Given the description of an element on the screen output the (x, y) to click on. 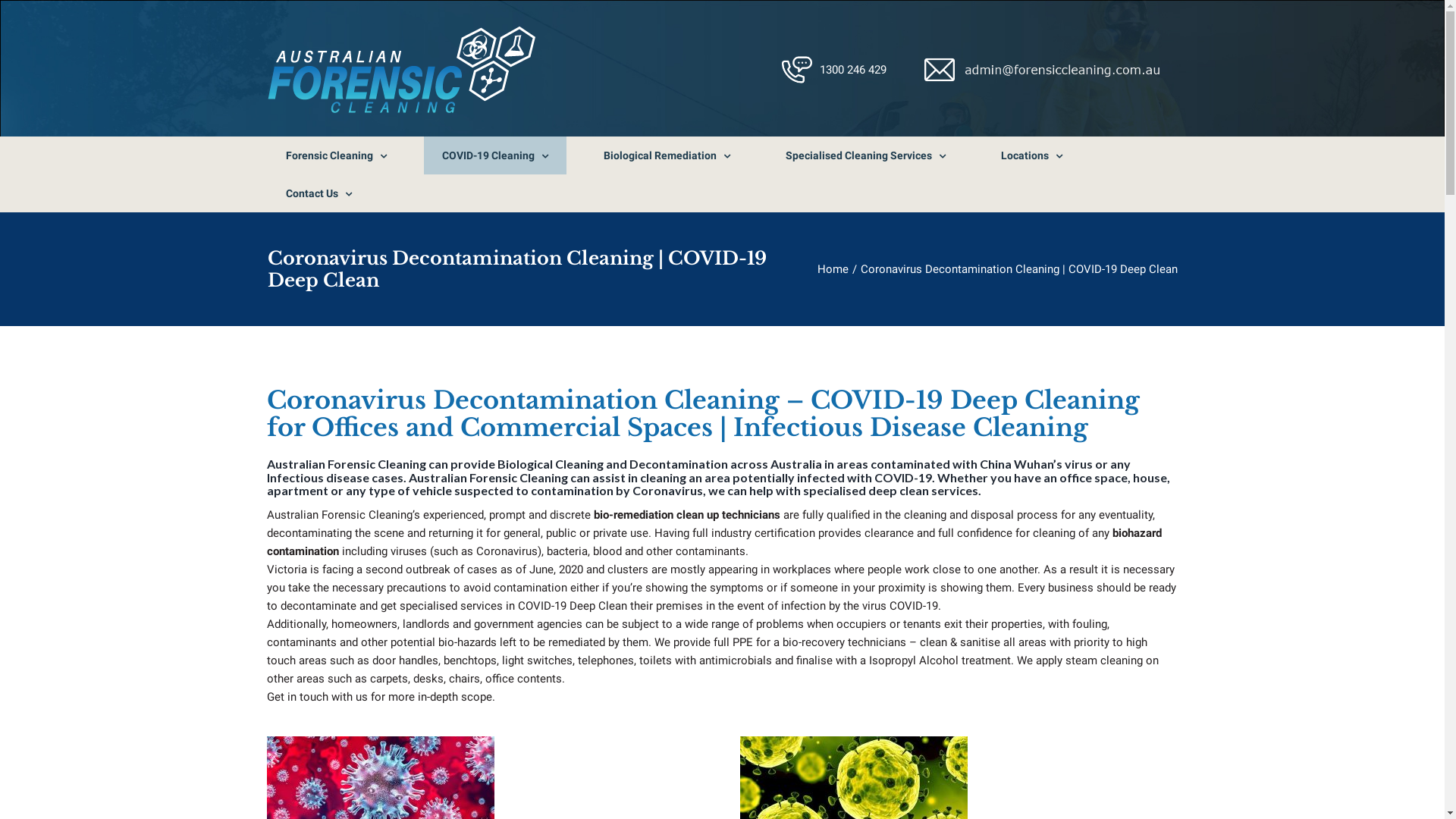
Forensic Cleaning Element type: text (335, 155)
Specialised Cleaning Services Element type: text (865, 155)
Biological Remediation Element type: text (666, 155)
Contact Us Element type: text (317, 193)
Home Element type: text (832, 269)
1300 246 429 Element type: text (852, 69)
Locations Element type: text (1031, 155)
COVID-19 Cleaning Element type: text (494, 155)
